Given the description of an element on the screen output the (x, y) to click on. 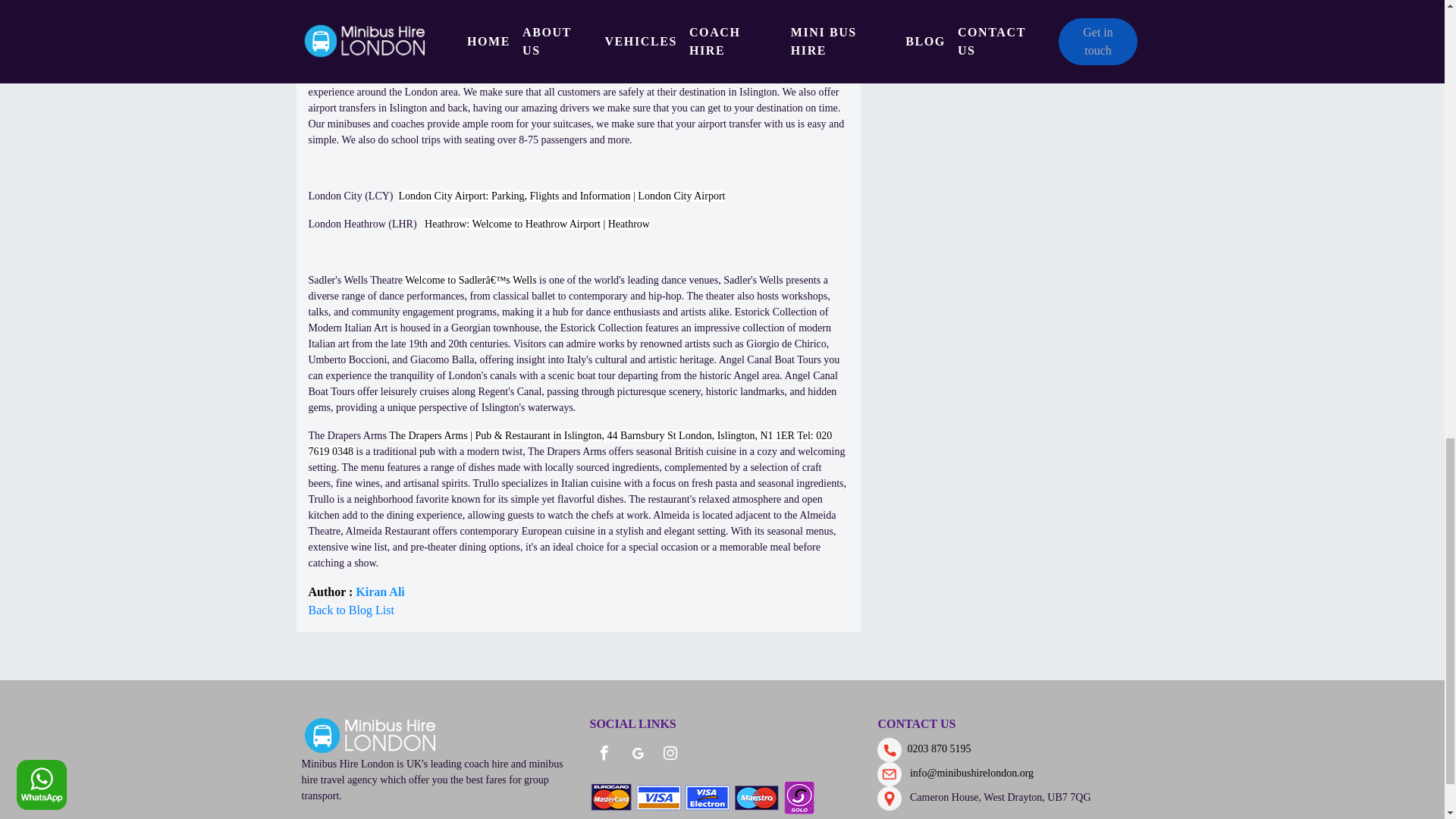
  0203 870 5195 (936, 748)
Back to Blog List (350, 609)
Author : Kiran Ali (355, 591)
